Given the description of an element on the screen output the (x, y) to click on. 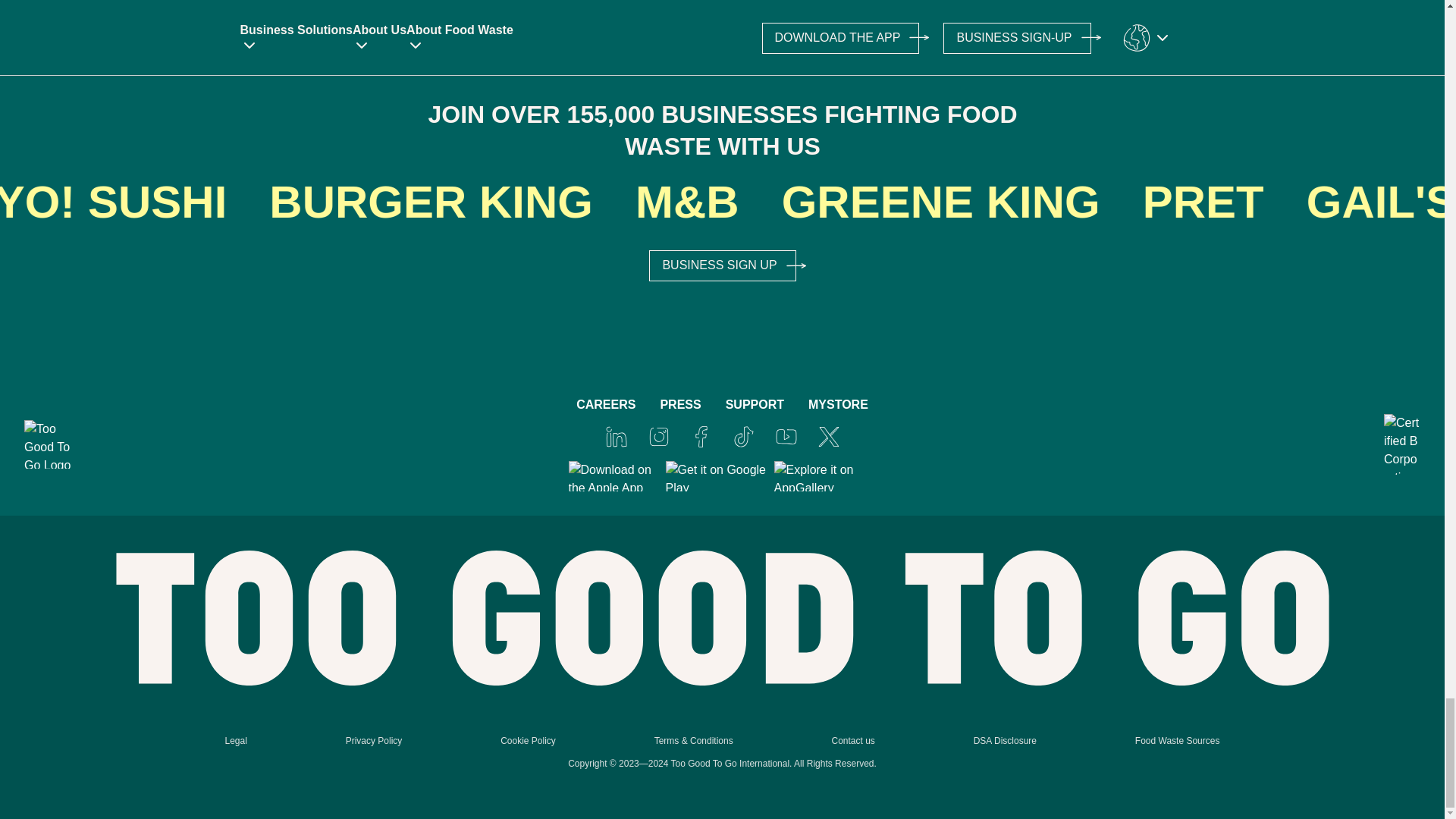
Careers (605, 405)
Support (754, 405)
BUSINESS SIGN UP (721, 265)
Press (679, 405)
Mystore (837, 405)
